Given the description of an element on the screen output the (x, y) to click on. 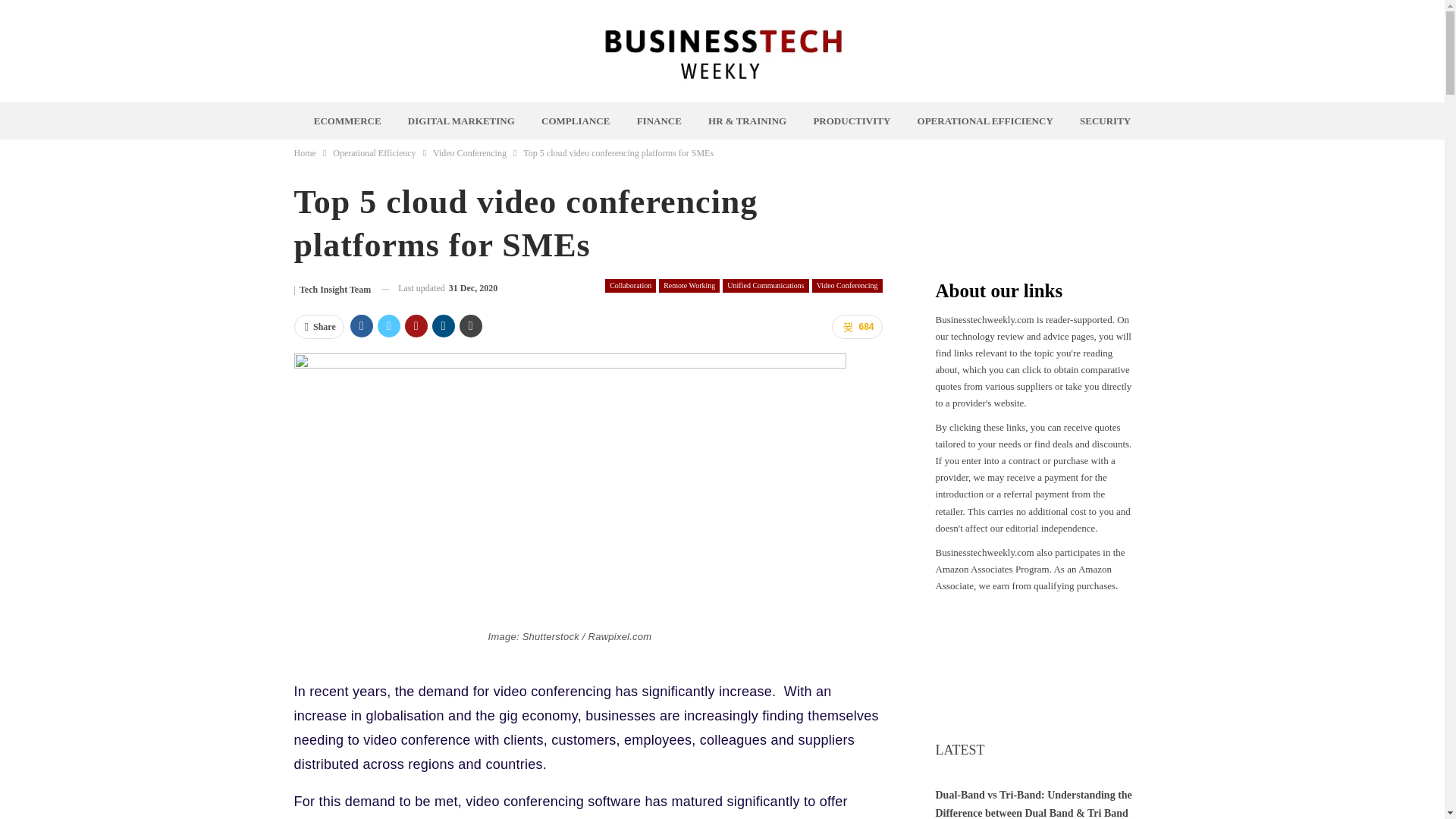
PRODUCTIVITY (851, 121)
Remote Working (689, 285)
SECURITY (1105, 121)
Collaboration (630, 285)
FINANCE (658, 121)
Home (304, 152)
OPERATIONAL EFFICIENCY (985, 121)
Video Conferencing (469, 152)
COMPLIANCE (575, 121)
ECOMMERCE (347, 121)
DIGITAL MARKETING (461, 121)
Operational Efficiency (373, 152)
Video Conferencing (847, 285)
Unified Communications (765, 285)
Browse Author Articles (332, 288)
